Given the description of an element on the screen output the (x, y) to click on. 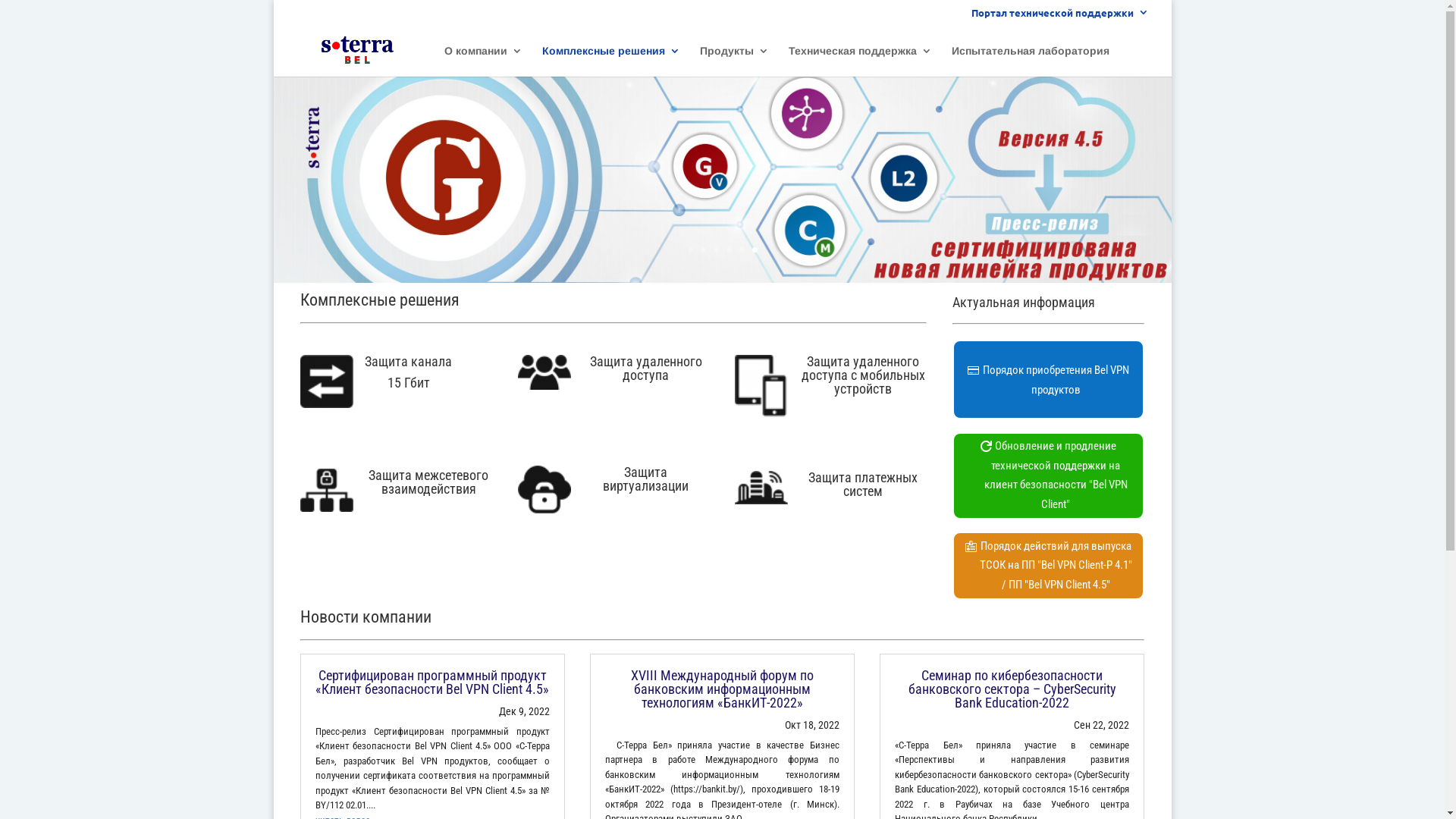
6 Element type: text (754, 249)
3 Element type: text (715, 249)
4 Element type: text (728, 249)
5 Element type: text (740, 249)
1 Element type: text (689, 249)
2 Element type: text (703, 249)
